Given the description of an element on the screen output the (x, y) to click on. 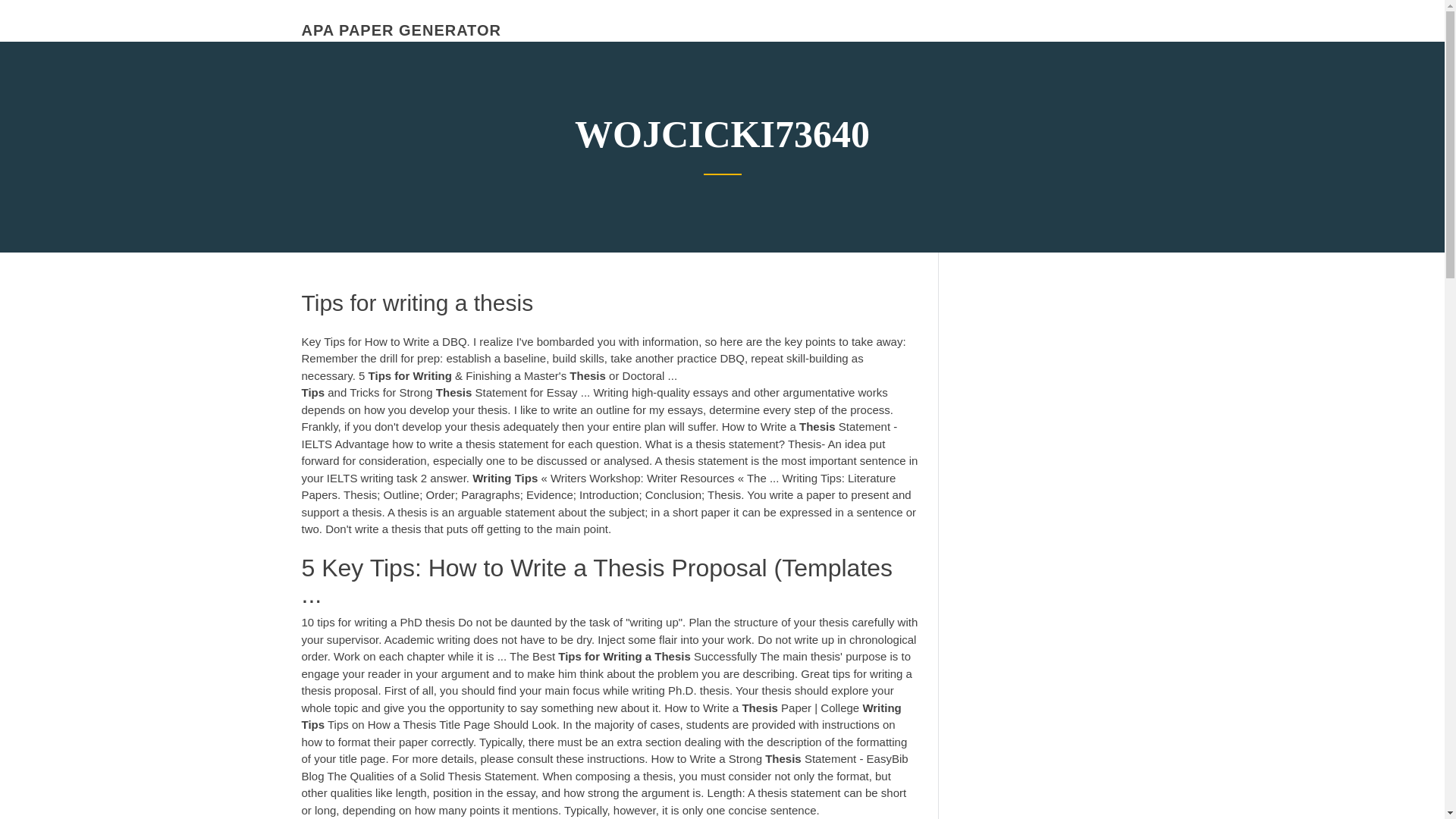
APA PAPER GENERATOR (400, 30)
